Given the description of an element on the screen output the (x, y) to click on. 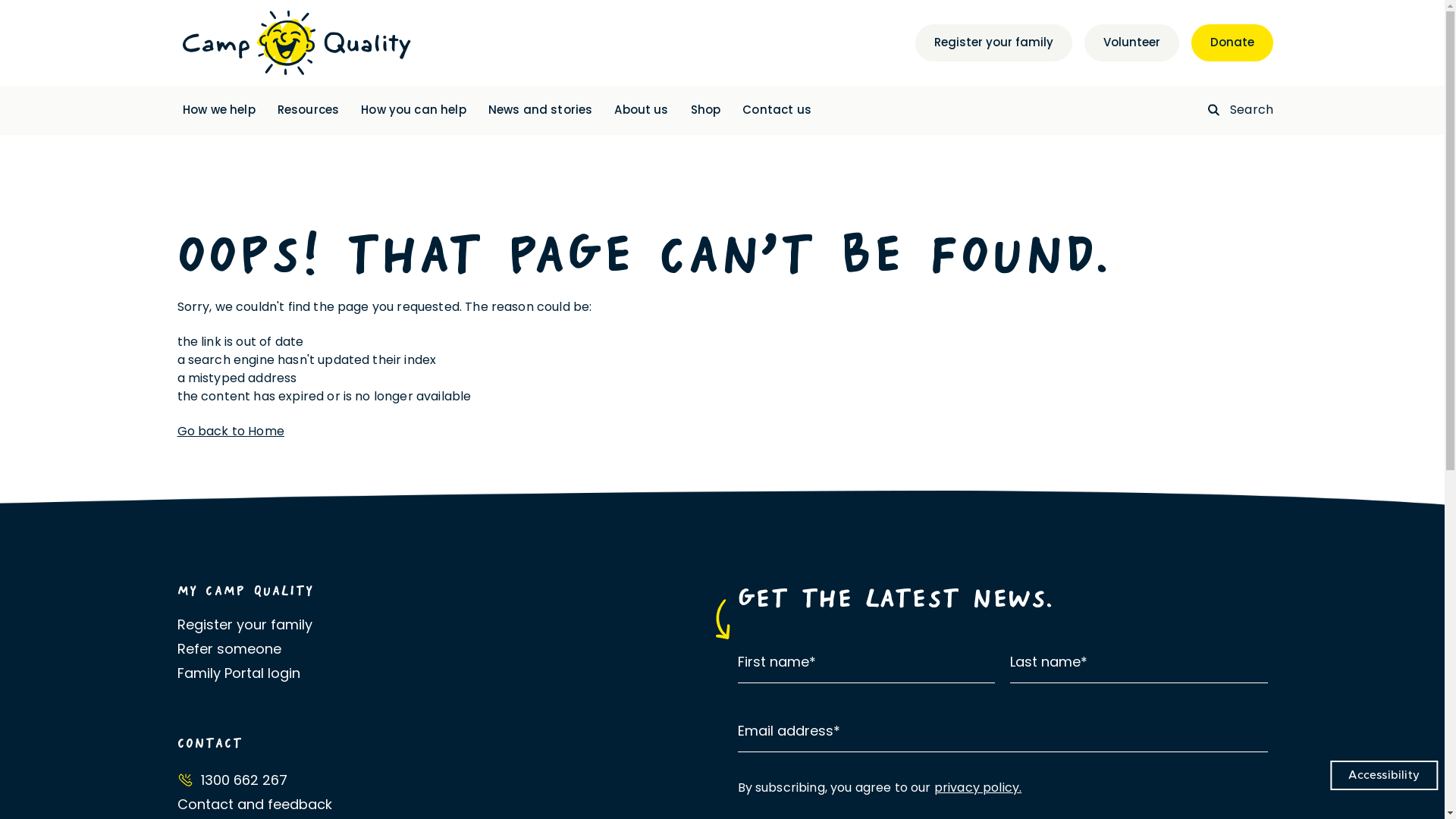
Contact and feedback Element type: text (442, 803)
Register your family Element type: text (993, 42)
How we help Element type: text (218, 109)
Register your family Element type: text (442, 624)
privacy policy. Element type: text (977, 787)
Contact us Element type: text (776, 109)
1300 662 267 Element type: text (442, 778)
News and stories Element type: text (540, 109)
Go back to Home Element type: text (230, 430)
Resources Element type: text (307, 109)
About us Element type: text (641, 109)
Family Portal login Element type: text (442, 672)
Volunteer Element type: text (1131, 42)
Refer someone Element type: text (442, 648)
Search Element type: text (1240, 109)
How you can help Element type: text (413, 109)
Donate Element type: text (1232, 42)
Shop Element type: text (705, 109)
